Given the description of an element on the screen output the (x, y) to click on. 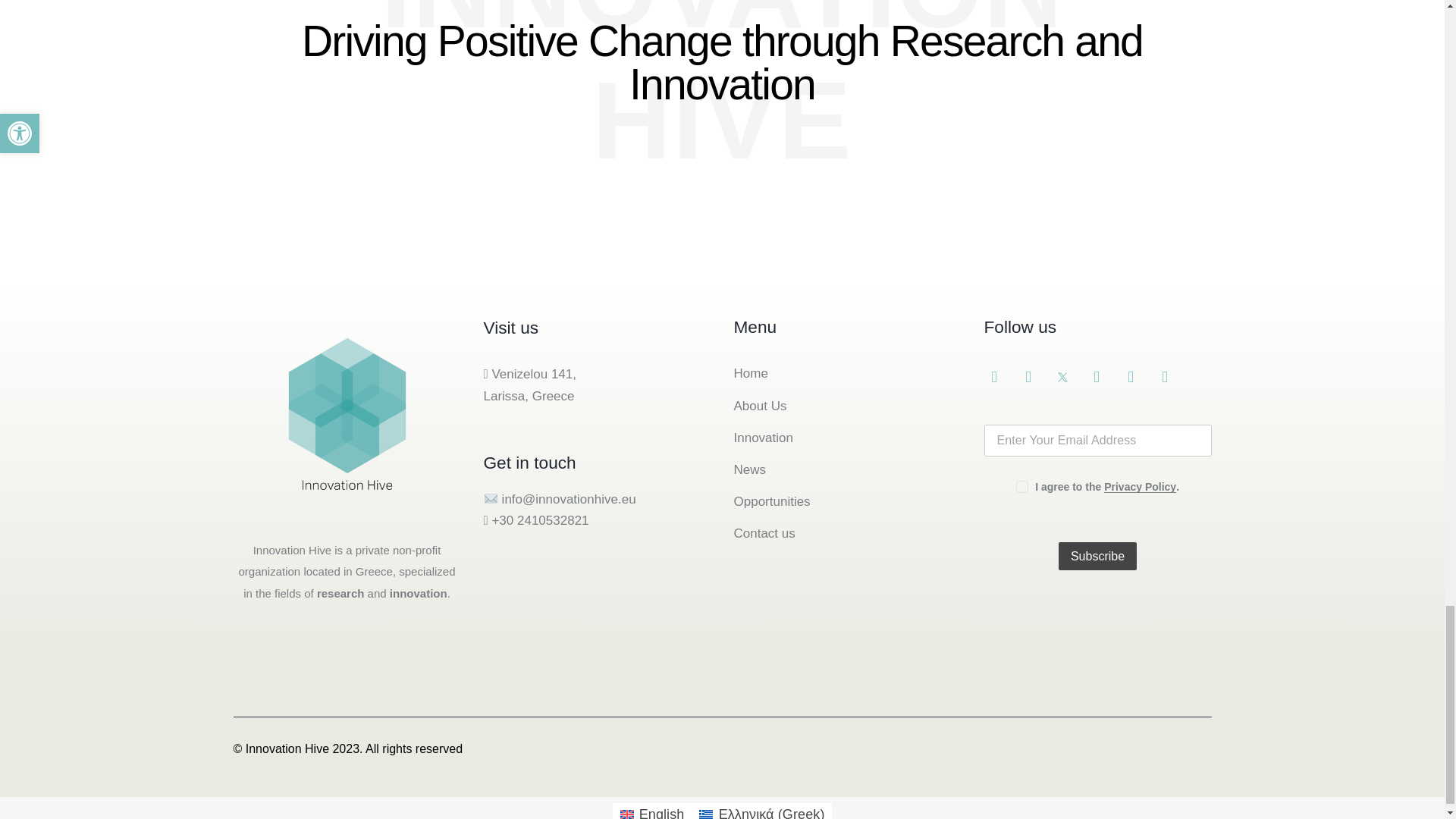
Subscribe (1097, 556)
1 (1021, 483)
